Given the description of an element on the screen output the (x, y) to click on. 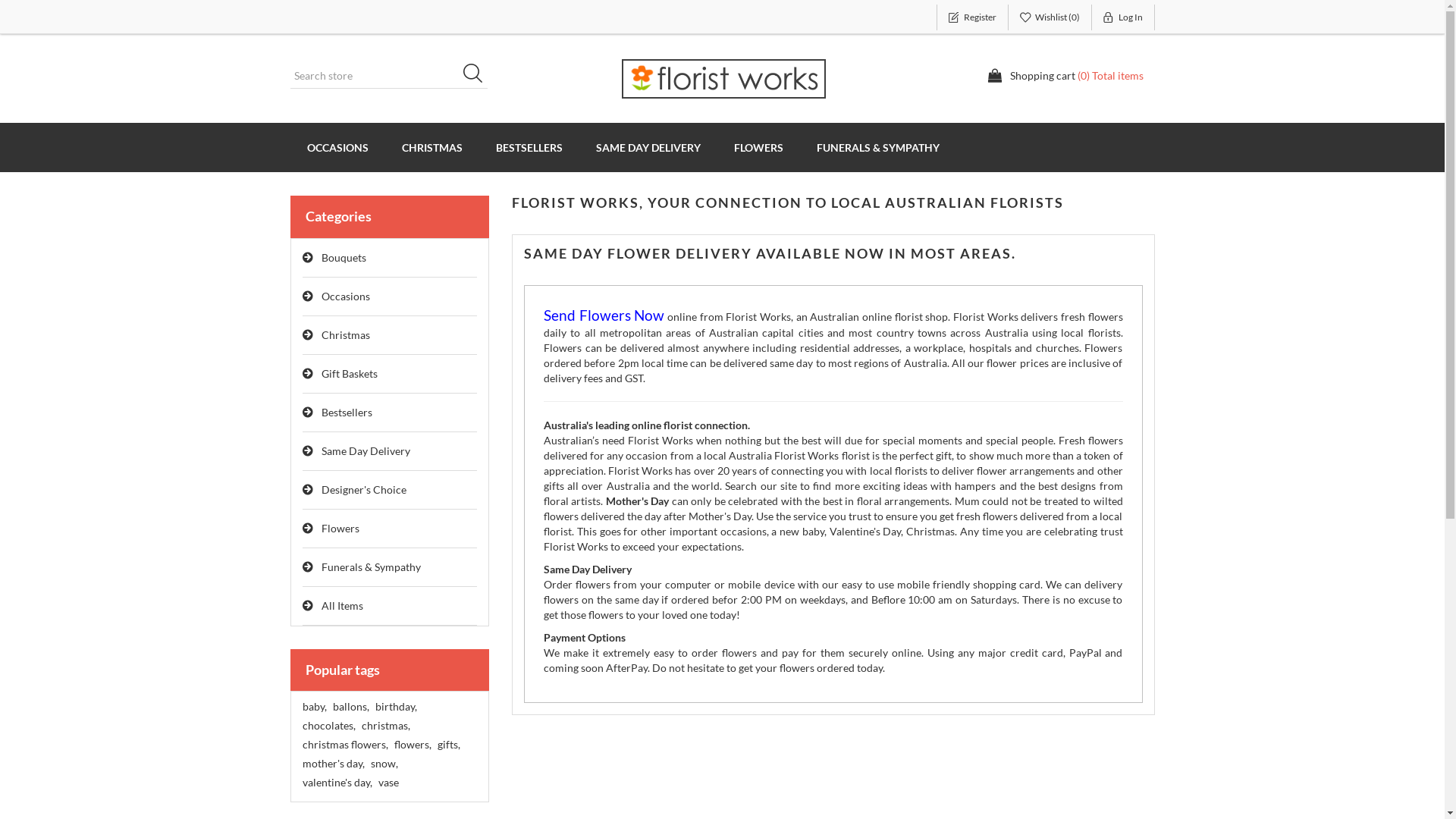
Send Flowers Now Element type: text (603, 316)
Shopping cart (0) Total items Element type: text (1065, 75)
christmas, Element type: text (384, 725)
Occasions Element type: text (388, 296)
SAME DAY DELIVERY Element type: text (648, 147)
Same Day Delivery Element type: text (388, 451)
Designer's Choice Element type: text (388, 489)
BESTSELLERS Element type: text (529, 147)
chocolates, Element type: text (327, 725)
FUNERALS & SYMPATHY Element type: text (877, 147)
Funerals & Sympathy Element type: text (388, 567)
Register Element type: text (971, 17)
birthday, Element type: text (395, 706)
Wishlist (0) Element type: text (1050, 17)
Flowers Element type: text (388, 528)
gifts, Element type: text (447, 744)
christmas flowers, Element type: text (344, 744)
valentine's day, Element type: text (336, 782)
Gift Baskets Element type: text (388, 373)
flowers, Element type: text (412, 744)
mother's day, Element type: text (332, 763)
vase Element type: text (387, 782)
CHRISTMAS Element type: text (432, 147)
Christmas Element type: text (388, 335)
OCCASIONS Element type: text (336, 147)
ballons, Element type: text (350, 706)
All Items Element type: text (388, 605)
Log In Element type: text (1123, 17)
Bouquets Element type: text (388, 257)
snow, Element type: text (383, 763)
Bestsellers Element type: text (388, 412)
FLOWERS Element type: text (758, 147)
baby, Element type: text (313, 706)
